Given the description of an element on the screen output the (x, y) to click on. 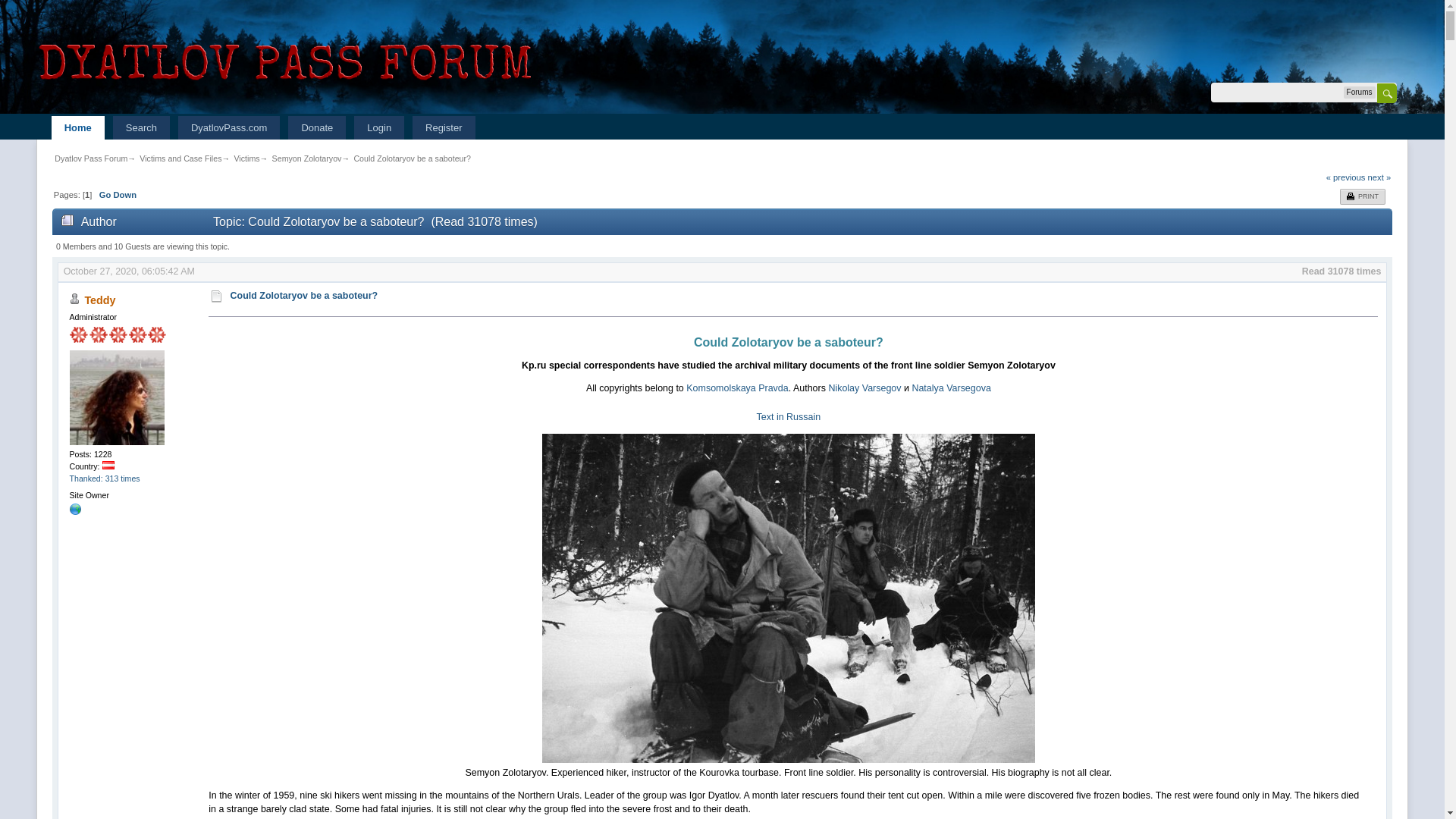
Donate (317, 127)
DyatlovPass.com (228, 127)
Teddy (99, 300)
Austria (108, 465)
Login (378, 127)
Search (141, 127)
Komsomolskaya Pravda (736, 388)
Could Zolotaryov be a saboteur? (304, 295)
Could Zolotaryov be a saboteur? (411, 158)
Nikolay Varsegov (864, 388)
